Given the description of an element on the screen output the (x, y) to click on. 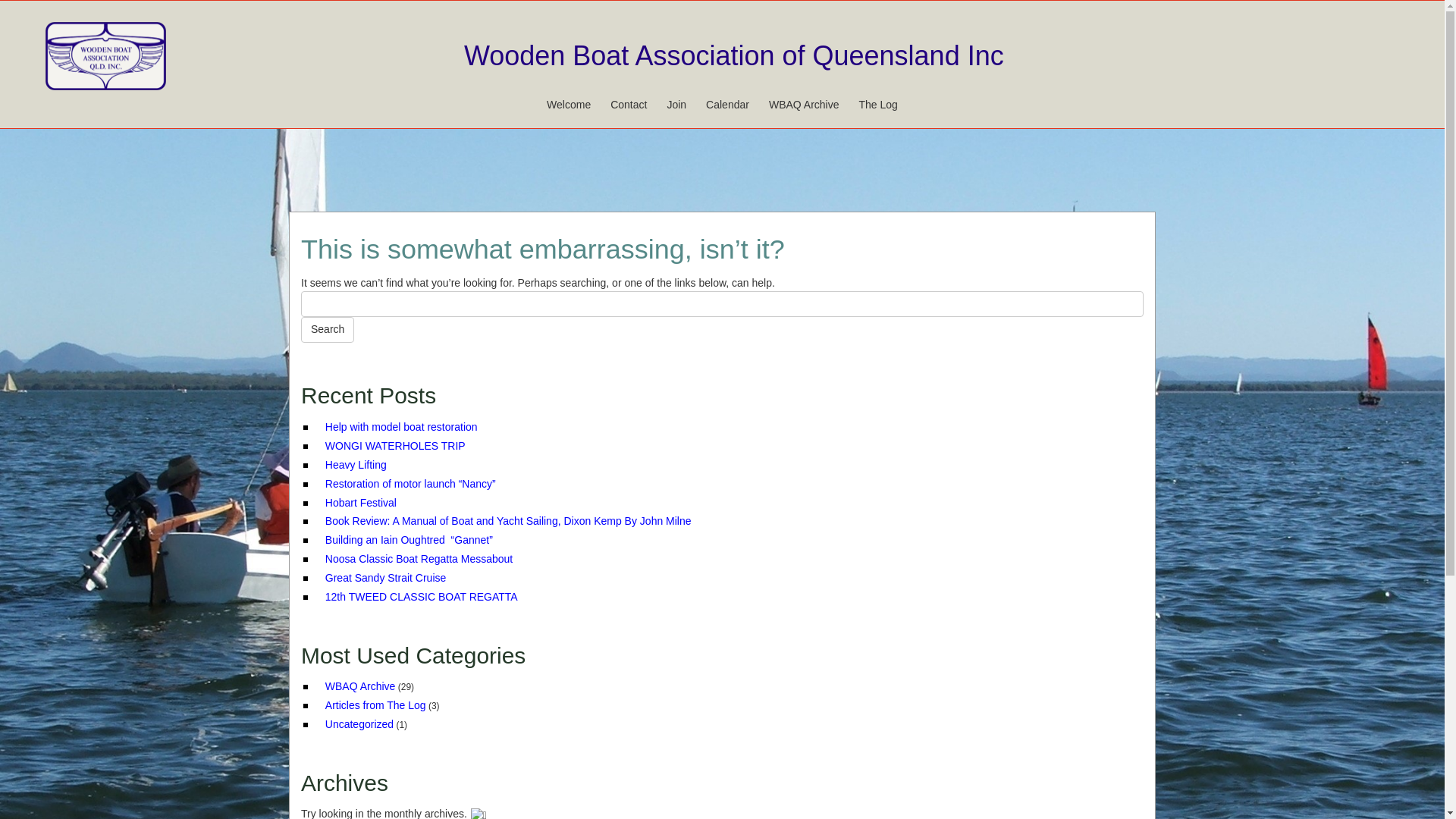
12th TWEED CLASSIC BOAT REGATTA Element type: text (421, 596)
Search Element type: text (327, 329)
Noosa Classic Boat Regatta Messabout Element type: text (418, 558)
Help with model boat restoration Element type: text (401, 426)
WBAQ Archive Element type: text (360, 686)
Join Element type: text (676, 104)
Hobart Festival Element type: text (360, 501)
Contact Element type: text (628, 104)
Wooden Boat Association of Queensland Inc Element type: text (734, 55)
Welcome Element type: text (568, 104)
Great Sandy Strait Cruise Element type: text (385, 577)
WBAQ Archive Element type: text (803, 104)
Calendar Element type: text (727, 104)
Articles from The Log Element type: text (375, 705)
The Log Element type: text (878, 104)
Uncategorized Element type: text (359, 724)
WONGI WATERHOLES TRIP Element type: text (395, 445)
Heavy Lifting Element type: text (355, 464)
